Given the description of an element on the screen output the (x, y) to click on. 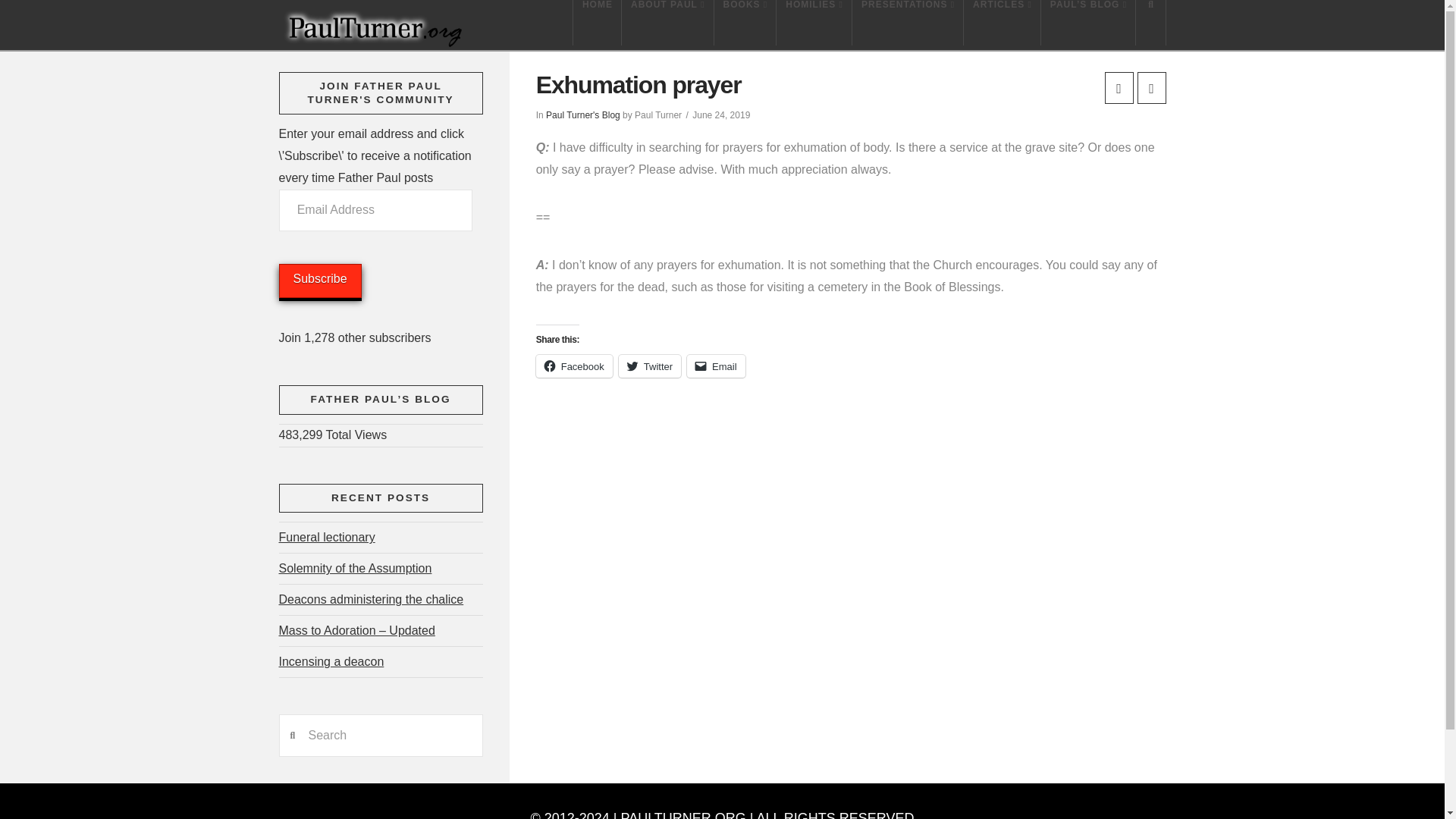
Paul Turner Books (745, 22)
ABOUT PAUL (667, 22)
Click to share on Facebook (573, 365)
Click to share on Twitter (649, 365)
HOMILIES (813, 22)
Click to email a link to a friend (716, 365)
HOME (596, 22)
BOOKS (745, 22)
